Given the description of an element on the screen output the (x, y) to click on. 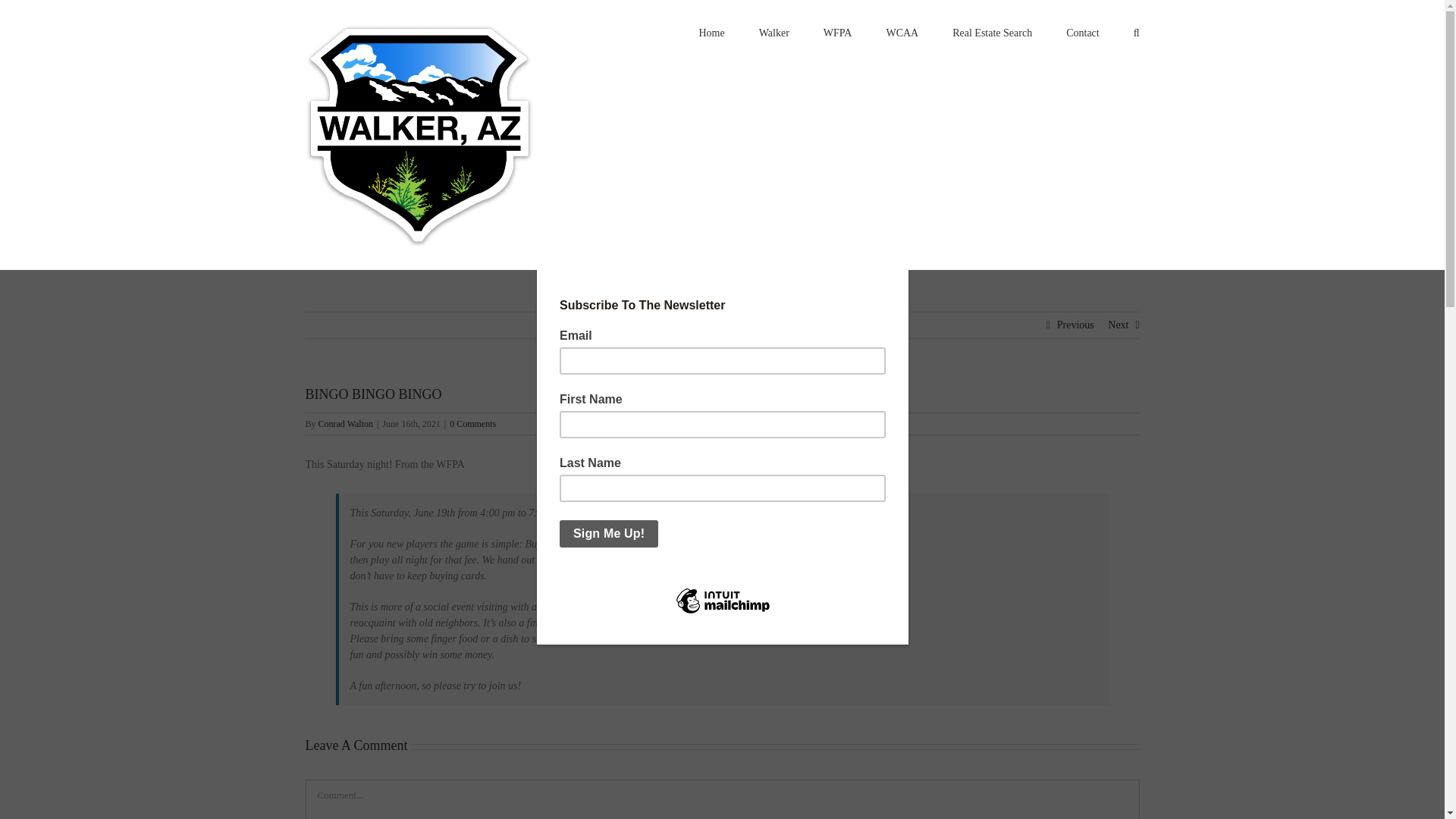
Real Estate Search (992, 31)
Posts by Conrad Walton (345, 423)
